Given the description of an element on the screen output the (x, y) to click on. 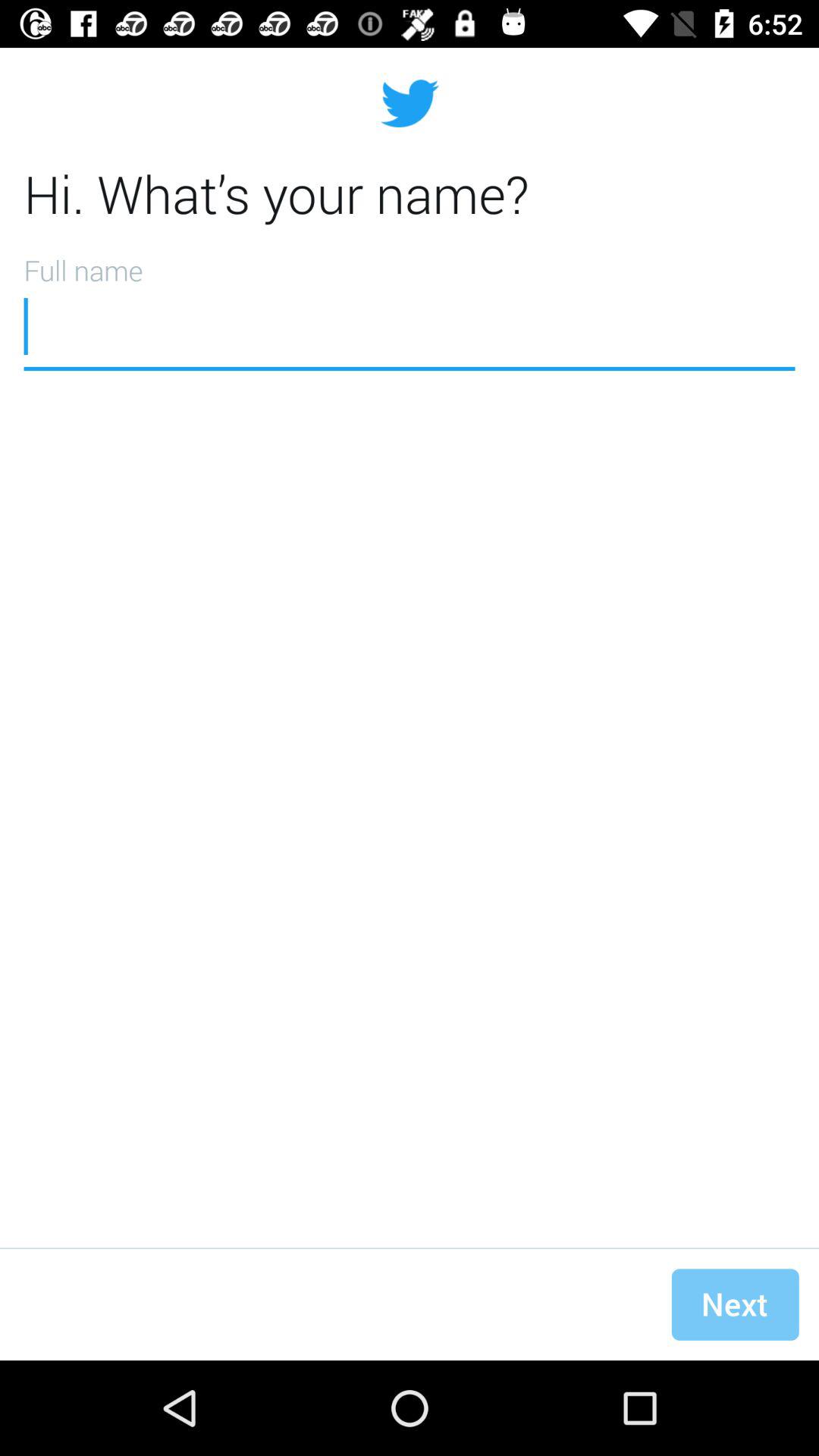
write your name (409, 307)
